Given the description of an element on the screen output the (x, y) to click on. 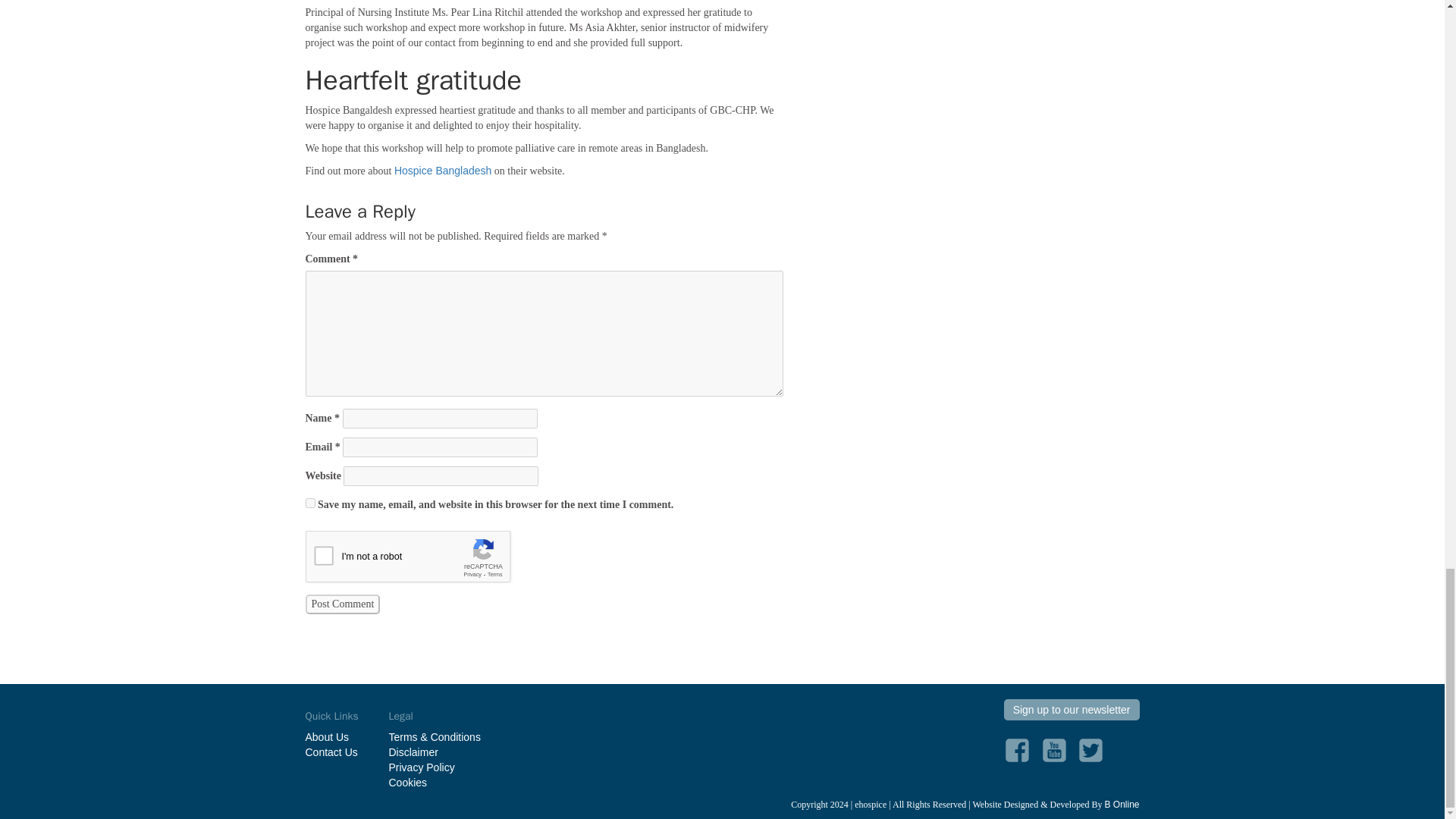
yes (309, 502)
Post Comment (342, 604)
reCAPTCHA (419, 559)
